Given the description of an element on the screen output the (x, y) to click on. 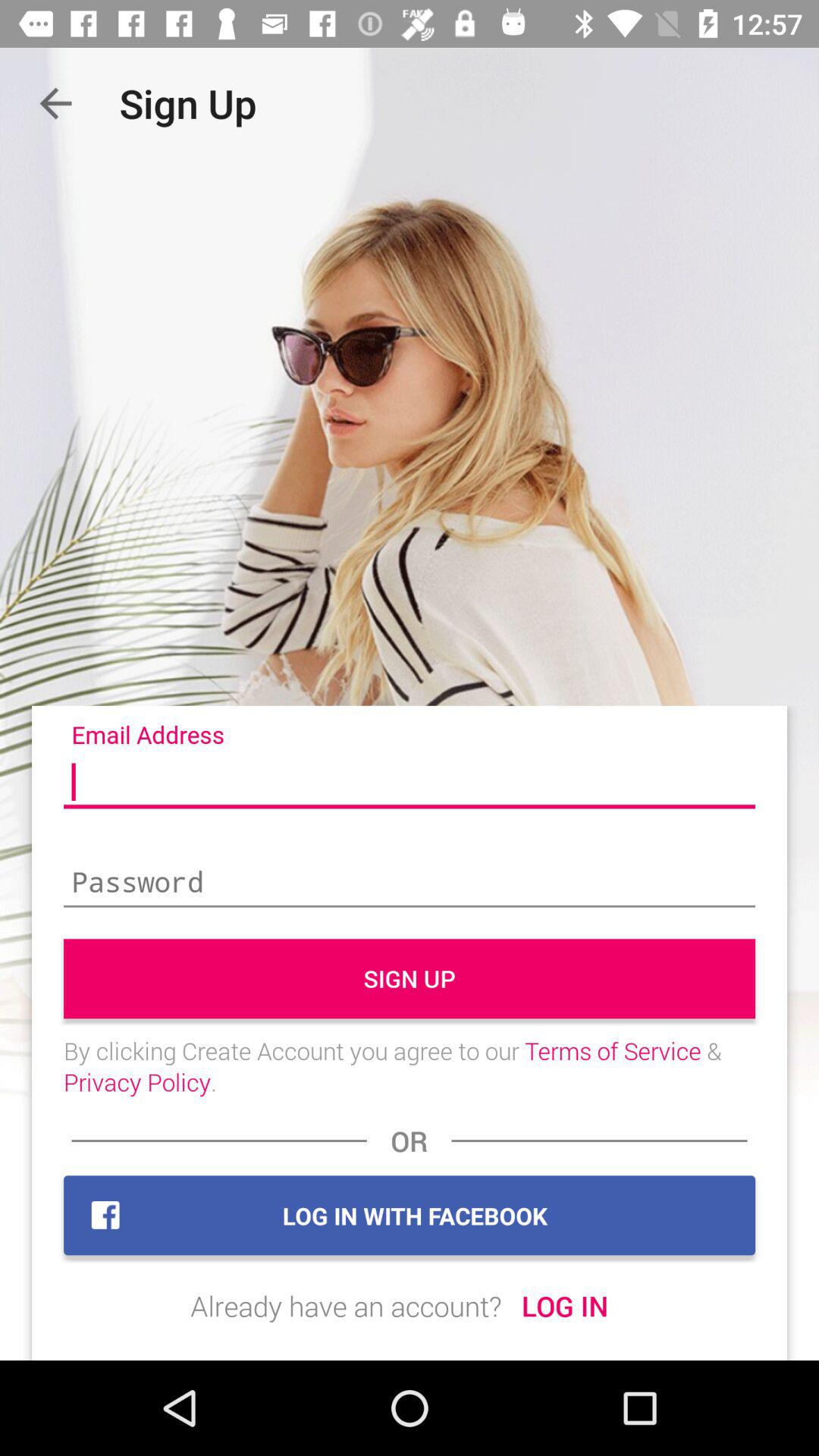
jump until the already have an (345, 1305)
